Given the description of an element on the screen output the (x, y) to click on. 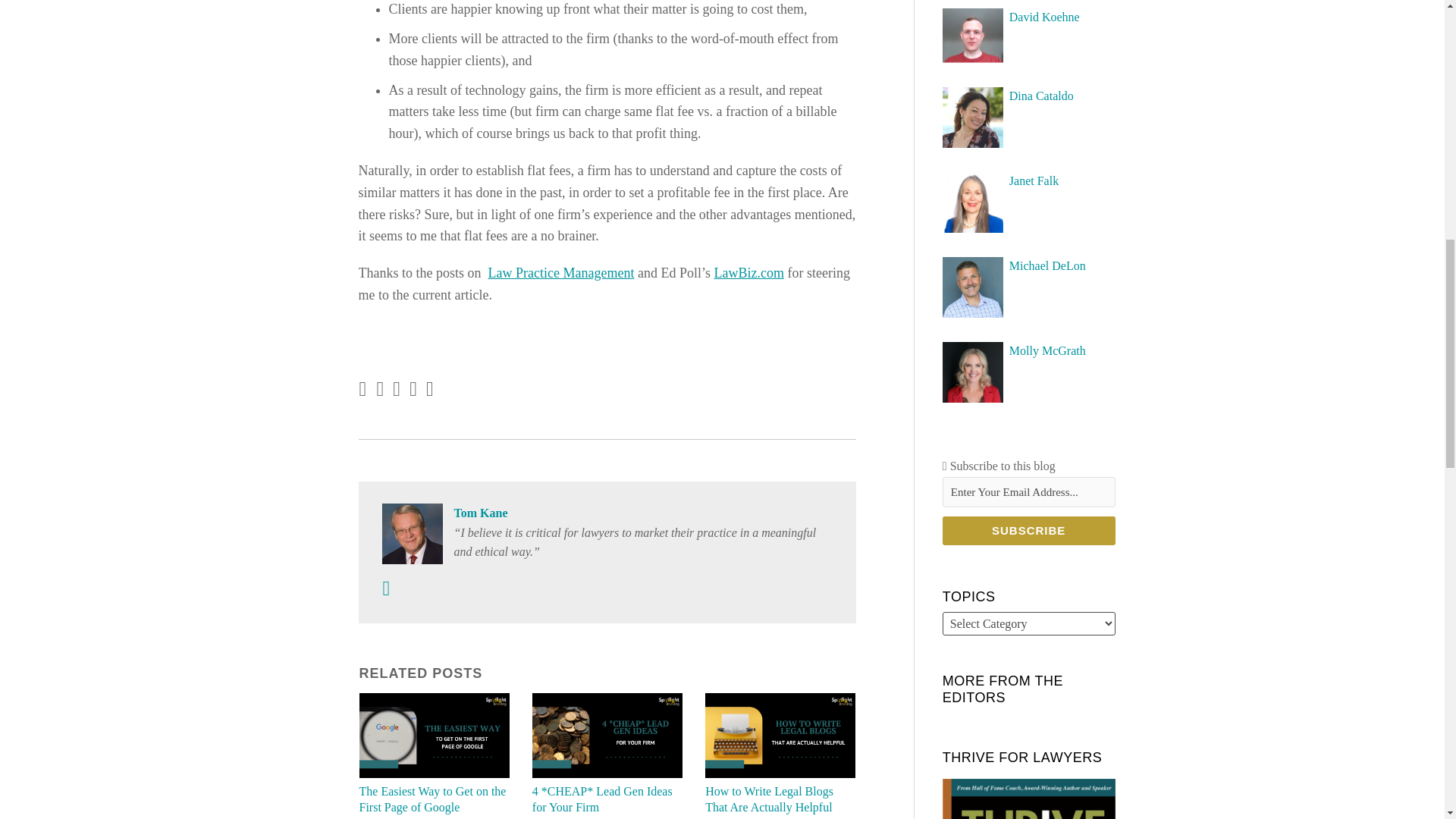
Tom Kane (606, 513)
How to Write Legal Blogs That Are Actually Helpful (780, 799)
LawBiz.com (748, 272)
Subscribe (1028, 530)
The Easiest Way to Get on the First Page of Google (434, 799)
Law Practice Management (560, 272)
